Given the description of an element on the screen output the (x, y) to click on. 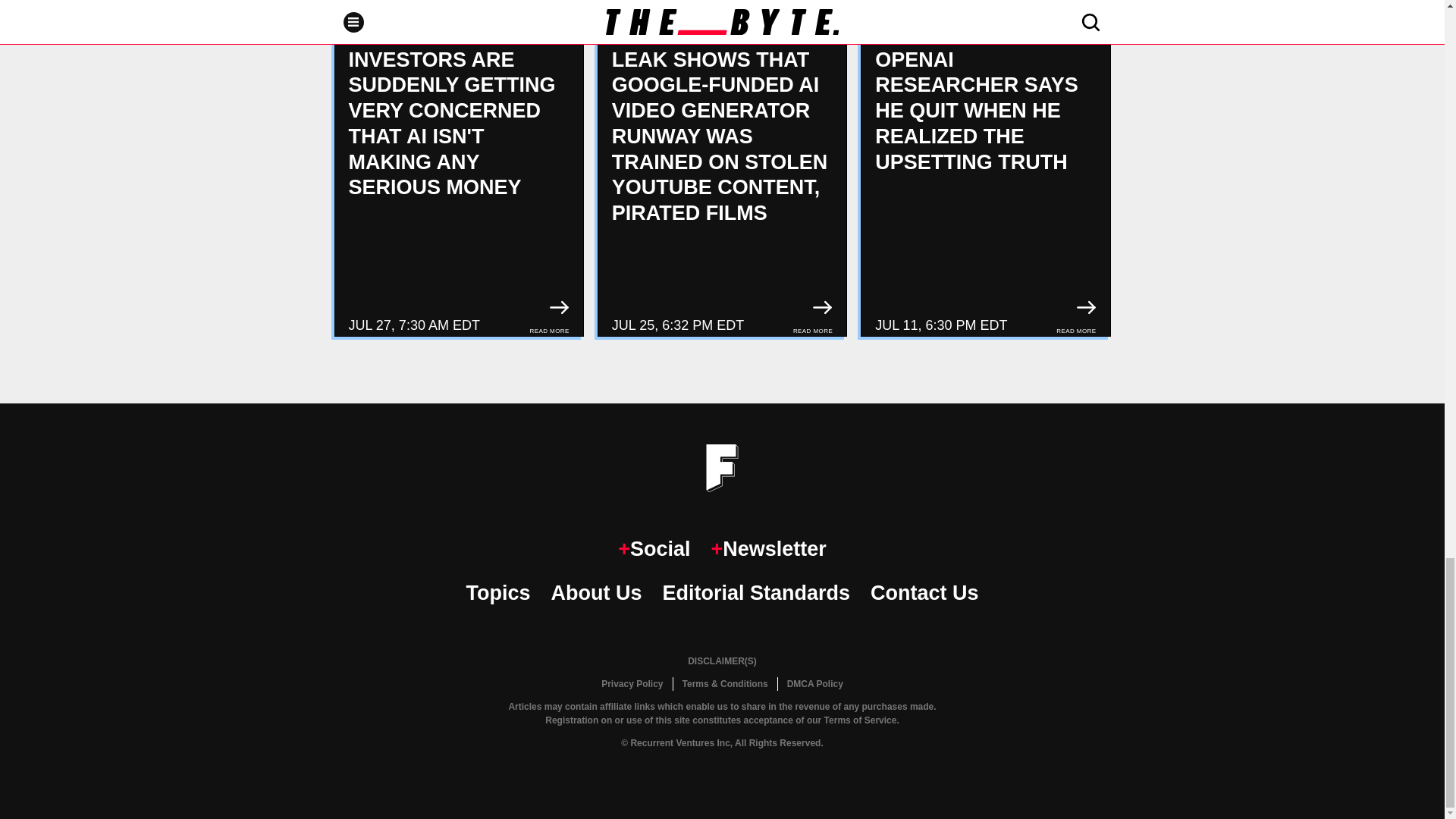
Contact Us (924, 593)
Privacy Policy (631, 684)
DMCA Policy (814, 684)
About Us (596, 593)
Topics (497, 593)
Editorial Standards (756, 593)
